Given the description of an element on the screen output the (x, y) to click on. 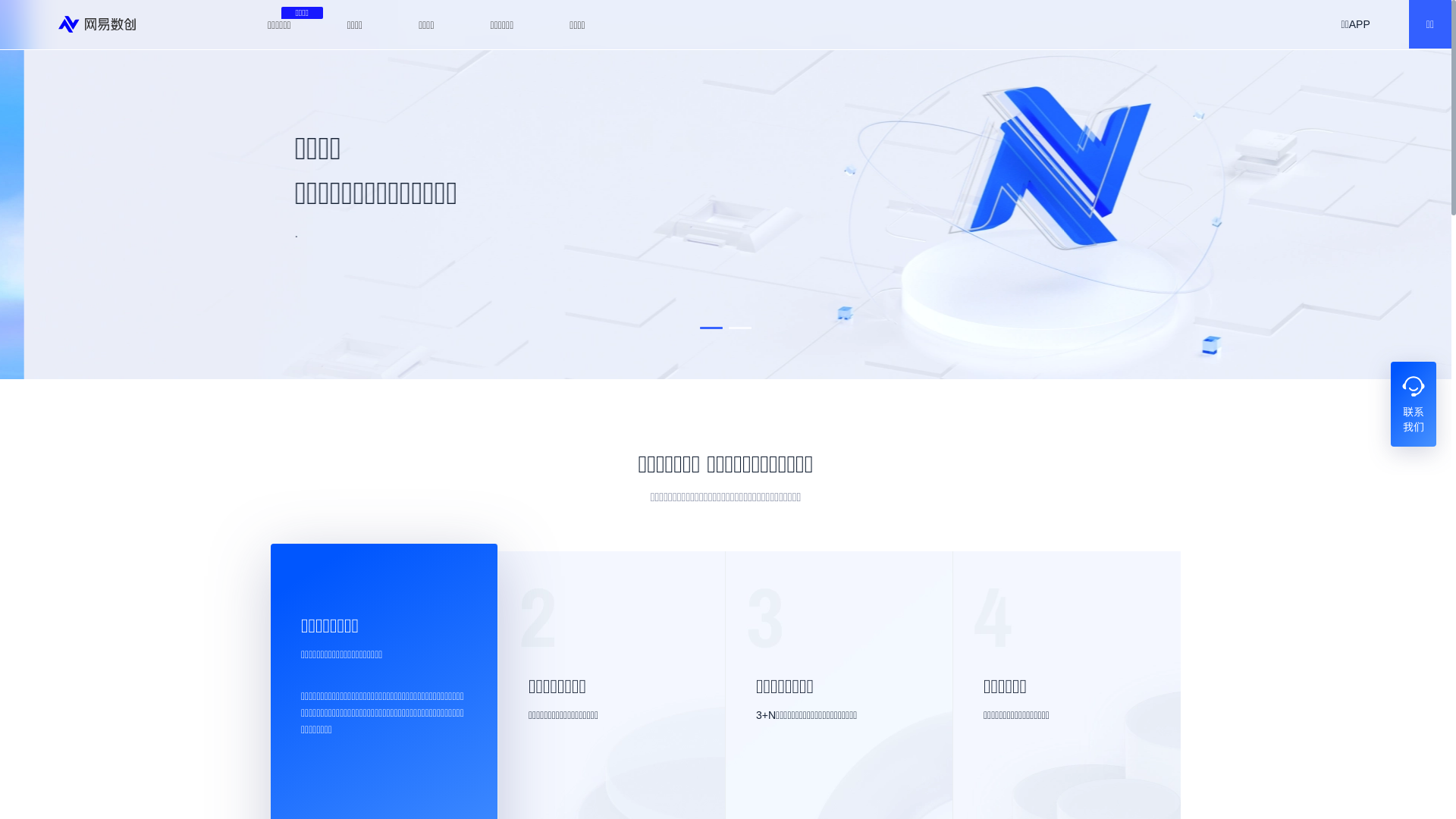
1 Element type: text (710, 327)
2 Element type: text (739, 327)
